Given the description of an element on the screen output the (x, y) to click on. 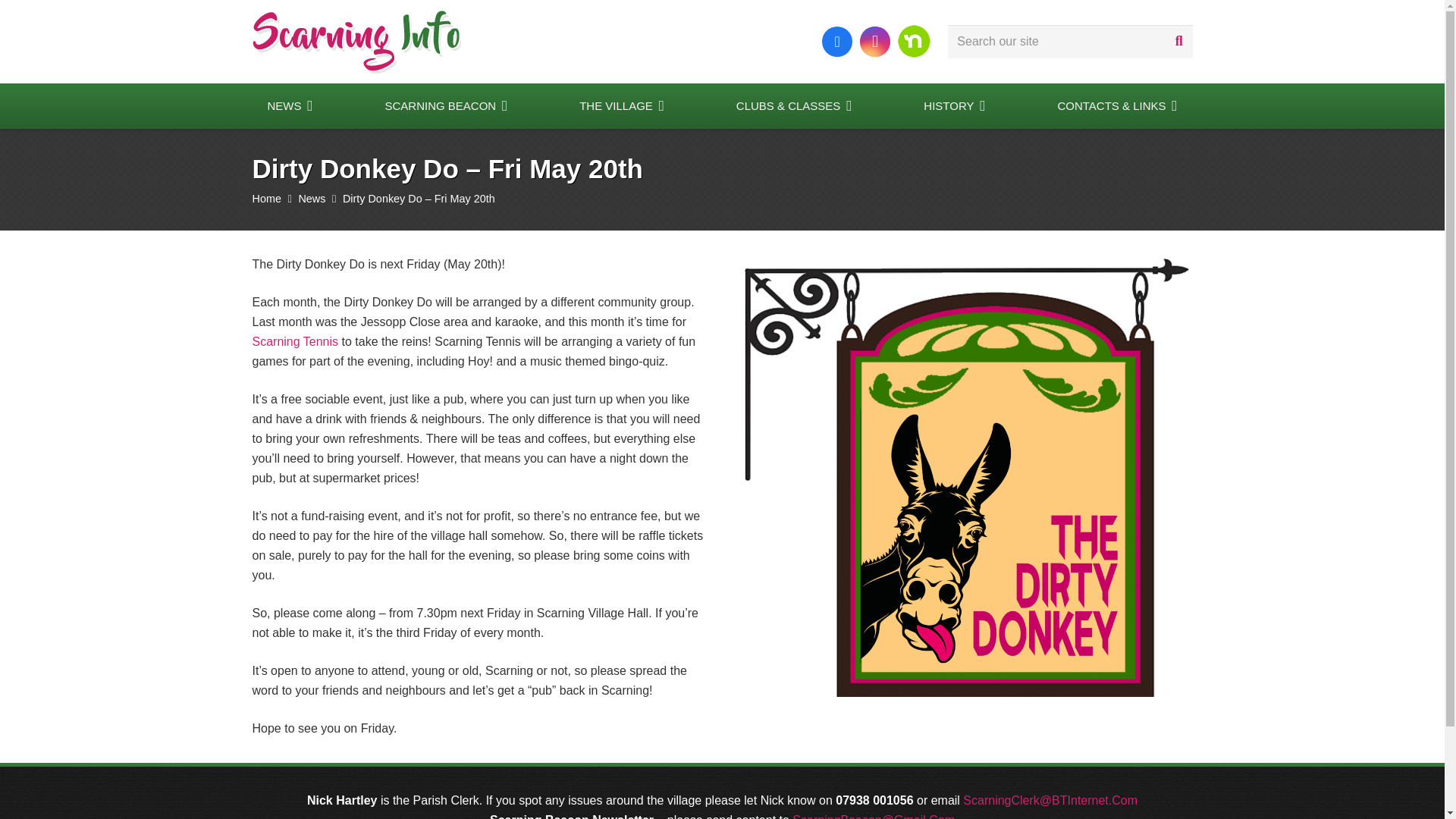
SCARNING BEACON (445, 105)
Facebook (836, 41)
Instagram (874, 41)
THE VILLAGE (621, 105)
NEWS (289, 105)
